Given the description of an element on the screen output the (x, y) to click on. 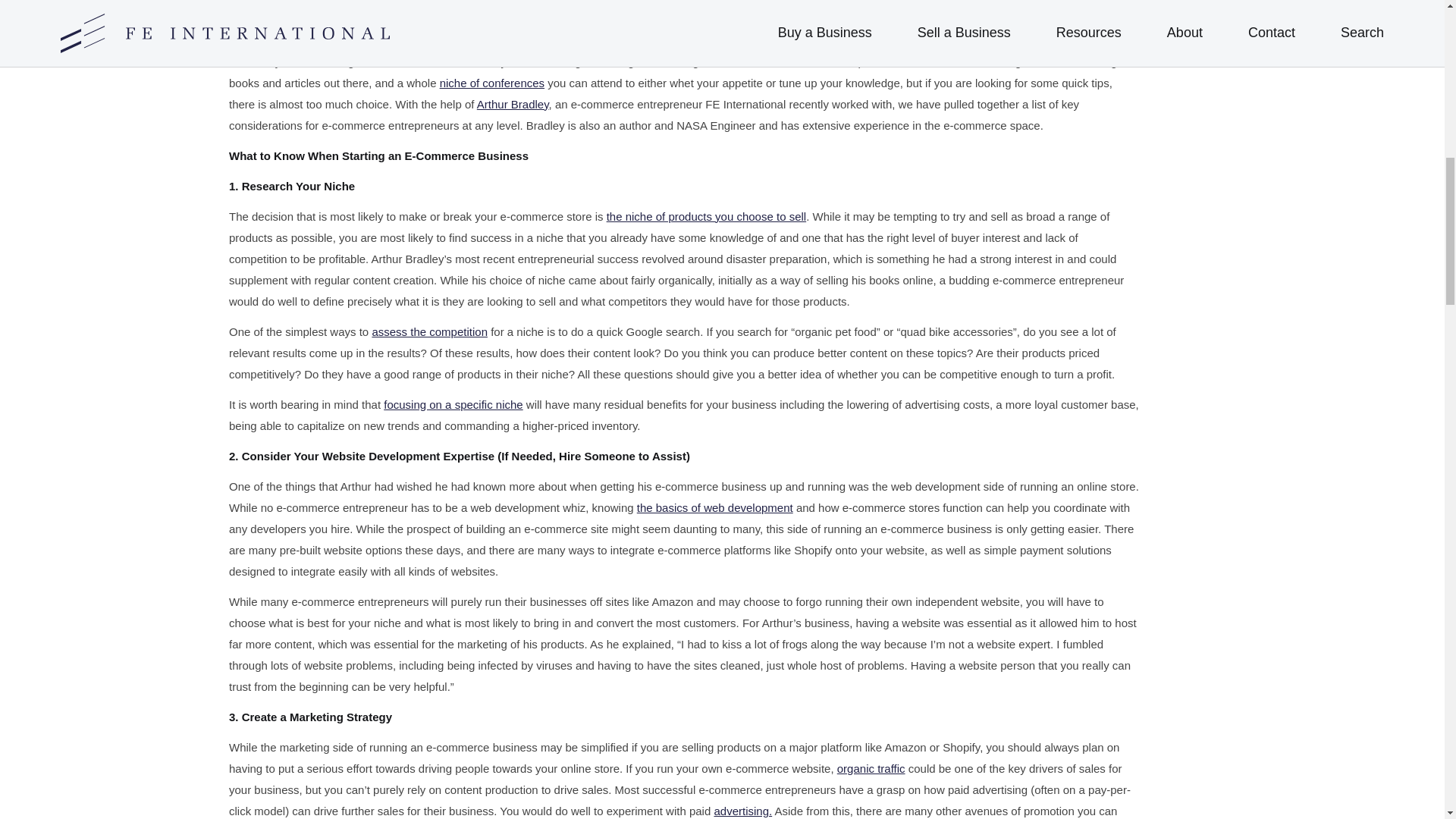
assess the competition (429, 331)
the niche of products you choose to sell (706, 215)
focusing on a specific niche (453, 404)
Arthur Bradley (512, 103)
the basics of web development (715, 507)
niche of conferences (491, 82)
organic traffic (871, 768)
